Given the description of an element on the screen output the (x, y) to click on. 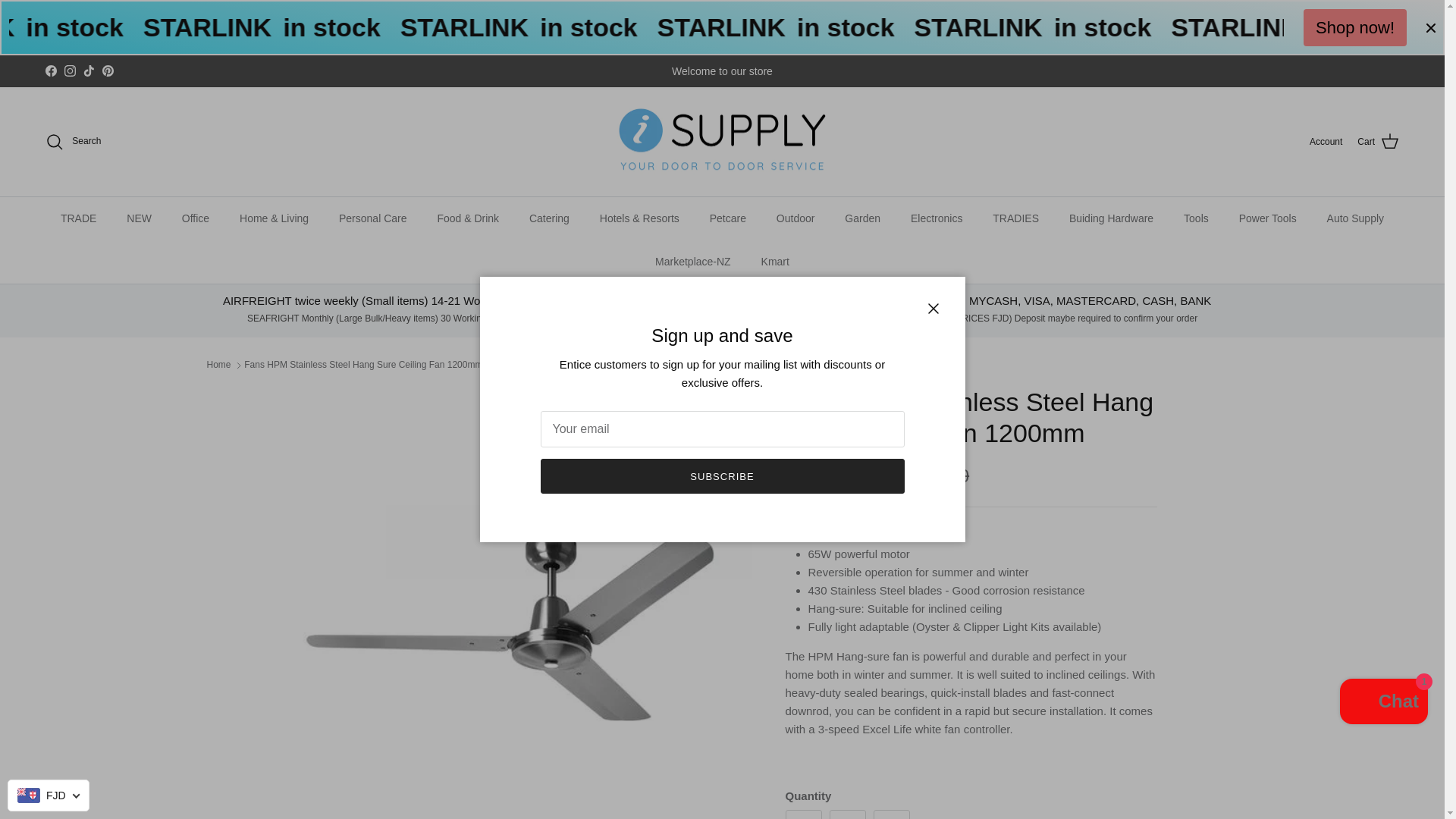
TRADE (78, 218)
Facebook (50, 70)
Shopify online store chat (1383, 703)
i Supply Solutions NZ   on Facebook (50, 70)
Instagram (69, 70)
1 (847, 814)
i Supply Solutions NZ   on Pinterest (107, 70)
i Supply Solutions NZ   (721, 141)
Search (72, 141)
Shop now! (1354, 27)
i Supply Solutions NZ   on Instagram (69, 70)
i Supply Solutions NZ   on TikTok (88, 70)
Pinterest (107, 70)
Cart (1377, 141)
TikTok (88, 70)
